Given the description of an element on the screen output the (x, y) to click on. 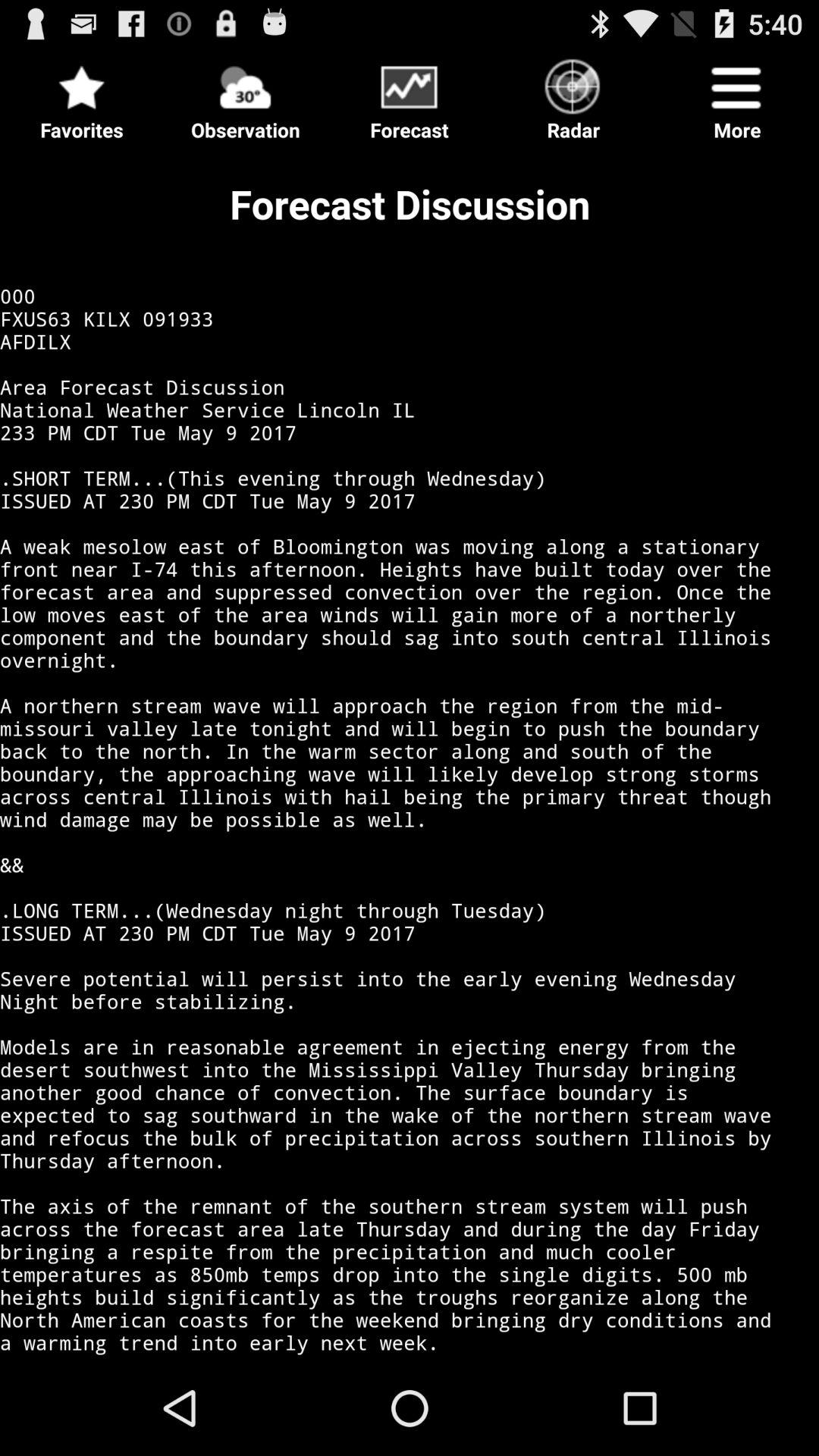
select item next to radar icon (737, 95)
